Given the description of an element on the screen output the (x, y) to click on. 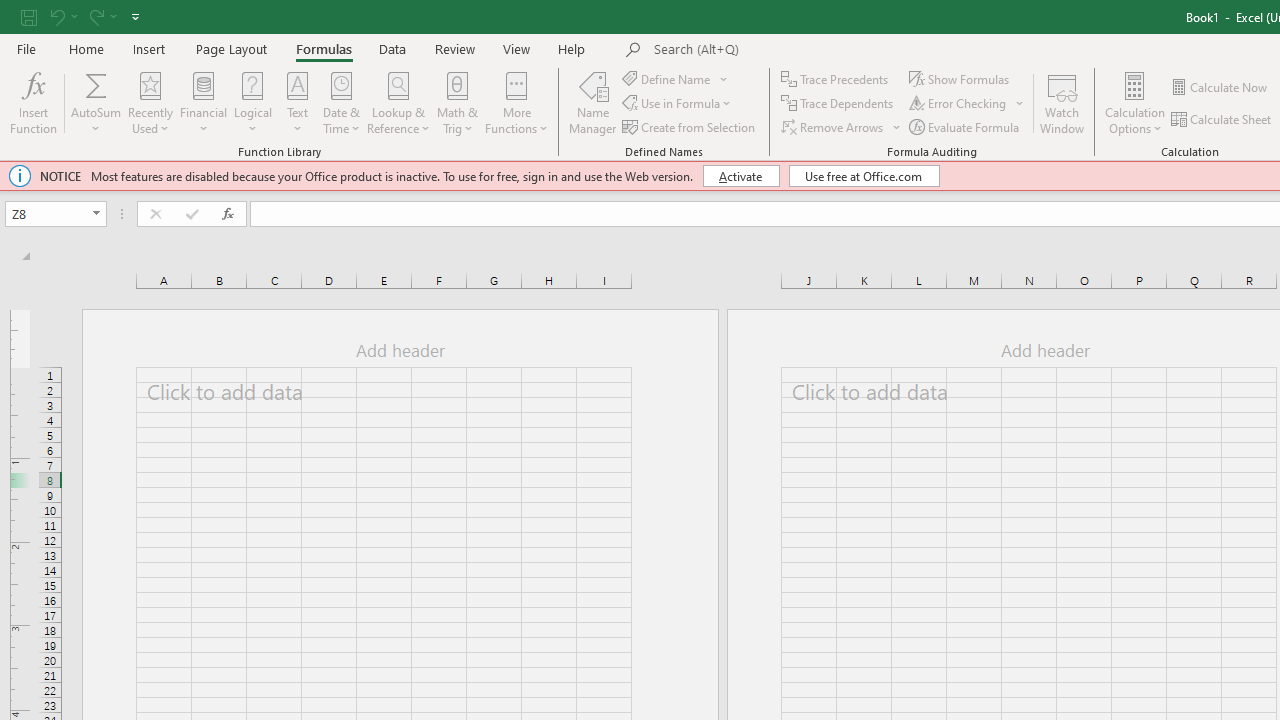
Lookup & Reference (398, 102)
Logical (253, 102)
Text (297, 102)
Watch Window (1062, 102)
Define Name... (667, 78)
Activate (740, 175)
